Given the description of an element on the screen output the (x, y) to click on. 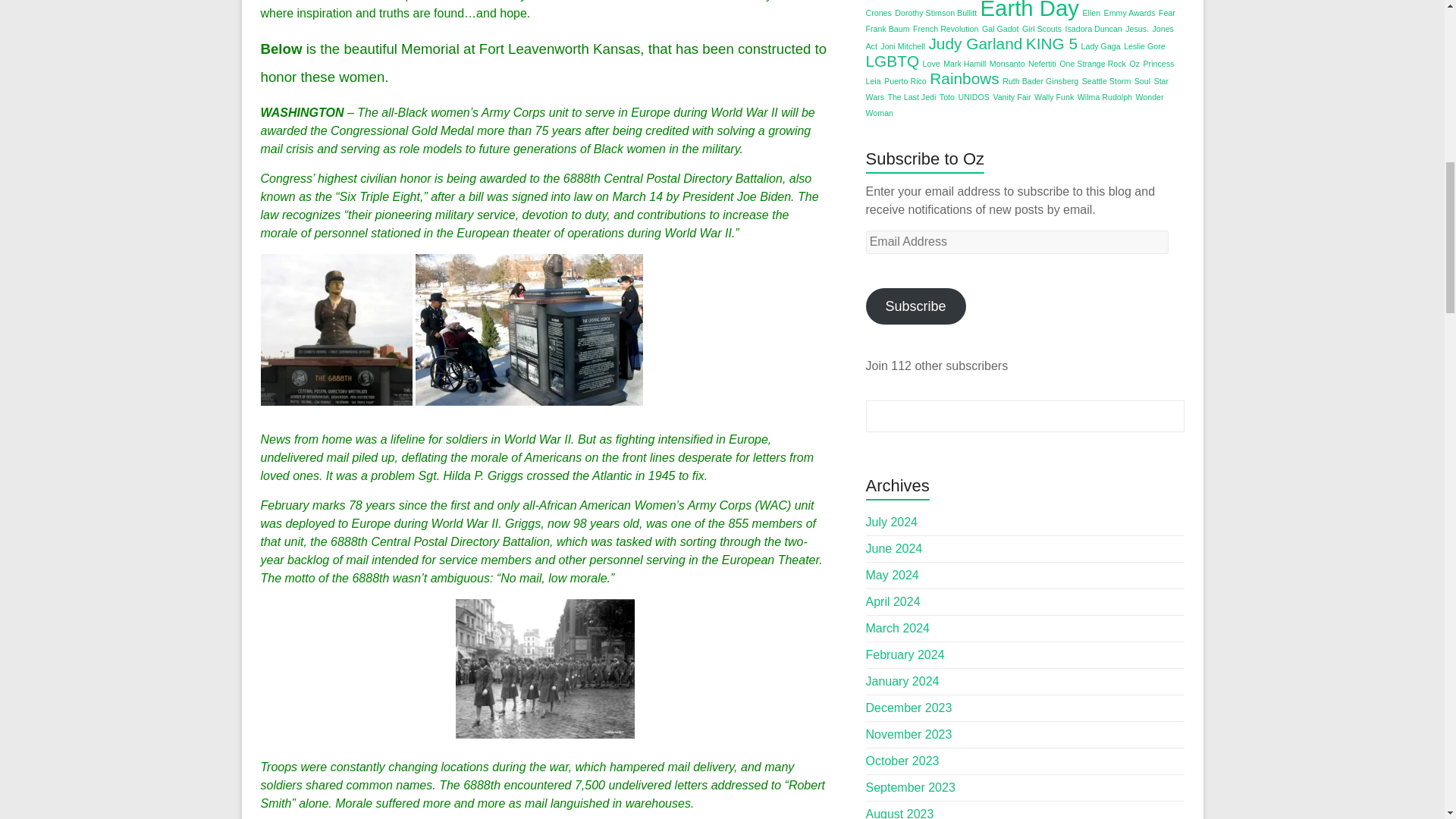
a bill was signed into law (525, 196)
Ellen (1090, 12)
Emmy Awards (1129, 12)
855 members (765, 522)
Fear (1166, 12)
Earth Day (1028, 10)
6888th Central Postal Directory Battalion (440, 541)
Crones (878, 12)
Frank Baum (888, 28)
Dorothy Stimson Bullitt (935, 12)
Sgt. Hilda P. Griggs (470, 475)
President Joe Biden (736, 196)
